Given the description of an element on the screen output the (x, y) to click on. 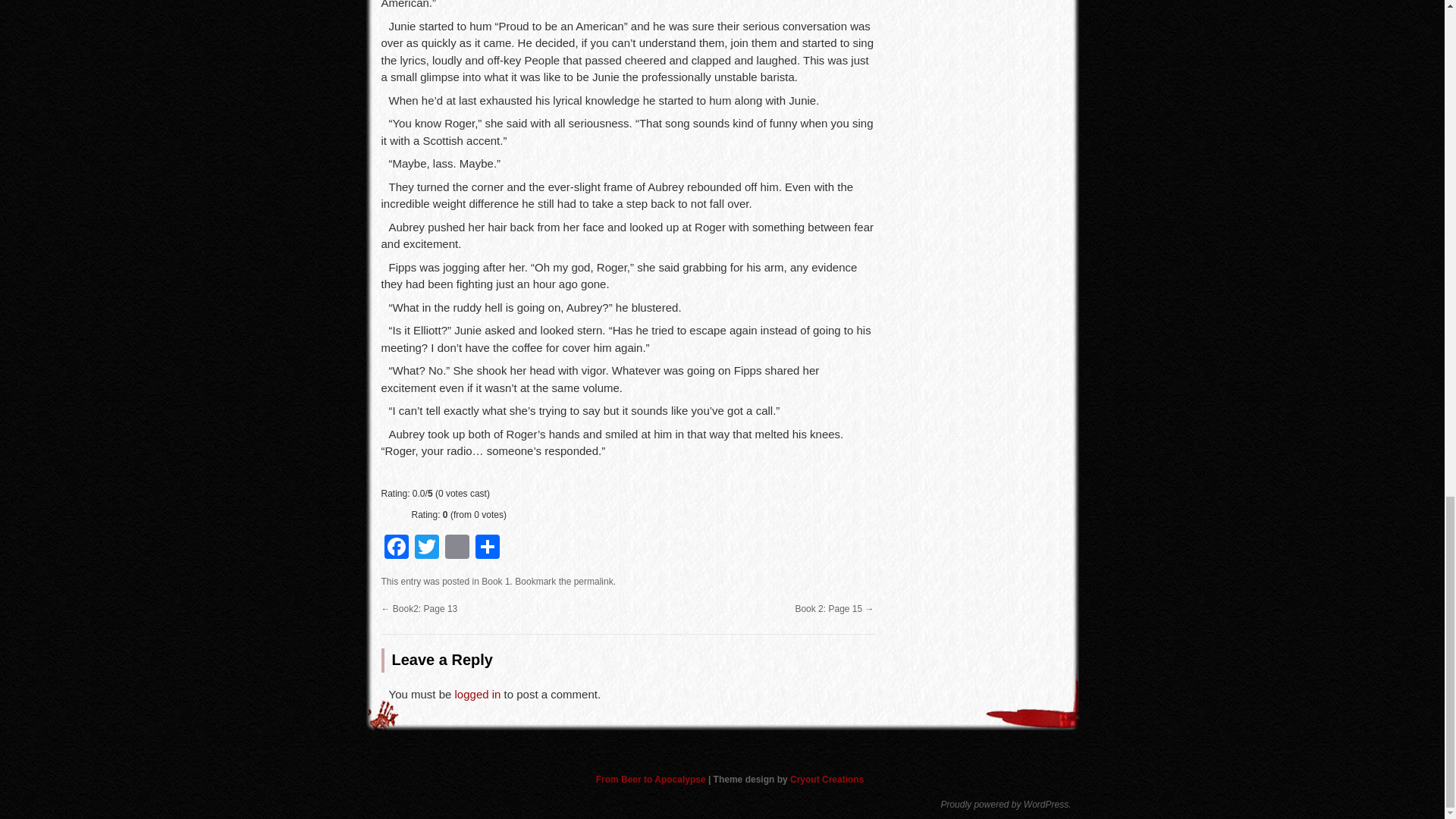
Share (486, 548)
permalink (592, 581)
logged in (477, 694)
Email (456, 548)
Twitter (425, 548)
Email (456, 548)
Facebook (395, 548)
Permalink to Book 2: Page 14 (592, 581)
Proudly powered by WordPress. (997, 804)
Book 1 (495, 581)
Facebook (395, 548)
From Beer to Apocalypse (651, 778)
Twitter (425, 548)
Cryout Creations (826, 778)
